Given the description of an element on the screen output the (x, y) to click on. 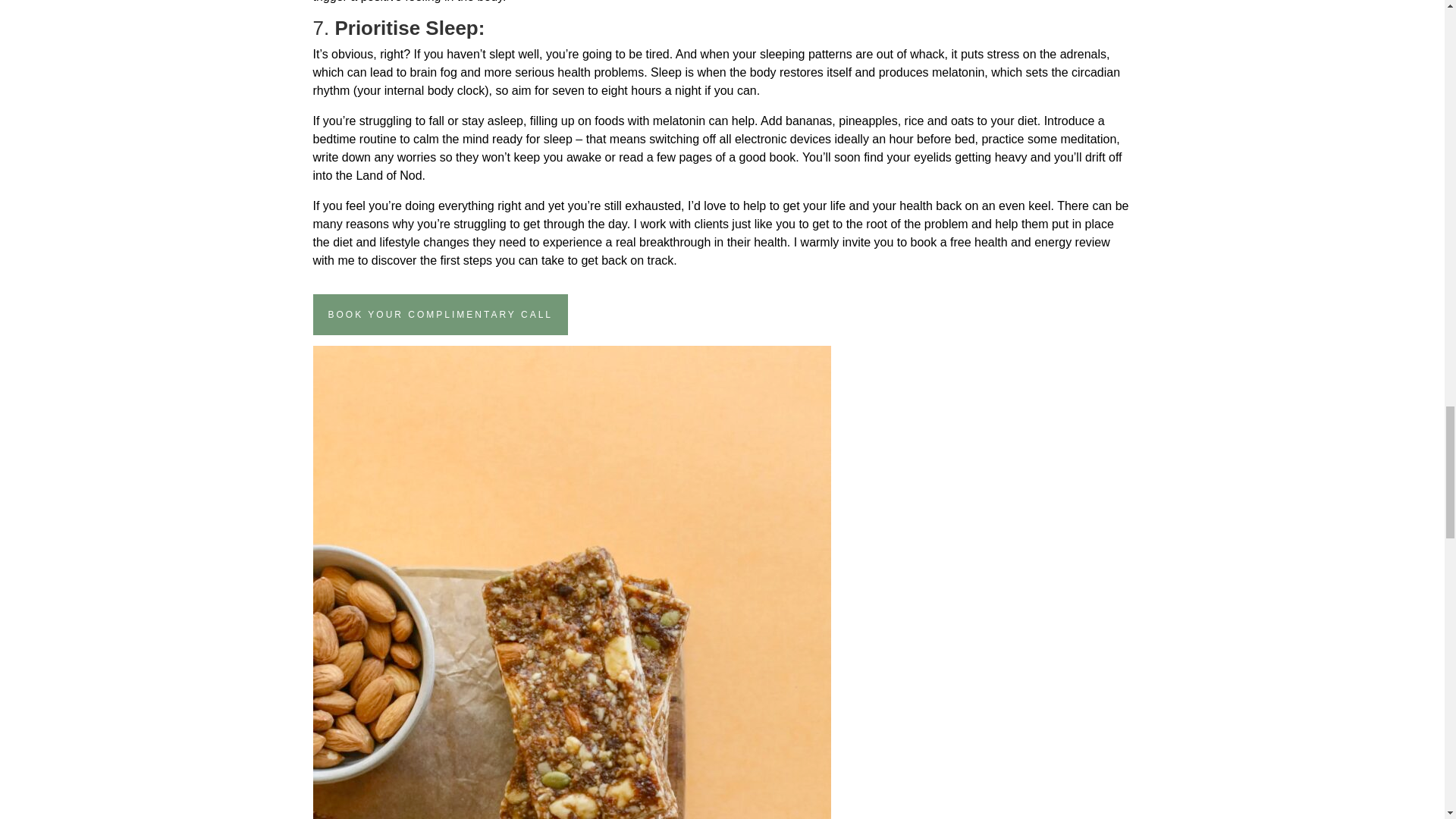
BOOK YOUR COMPLIMENTARY CALL (440, 314)
